Given the description of an element on the screen output the (x, y) to click on. 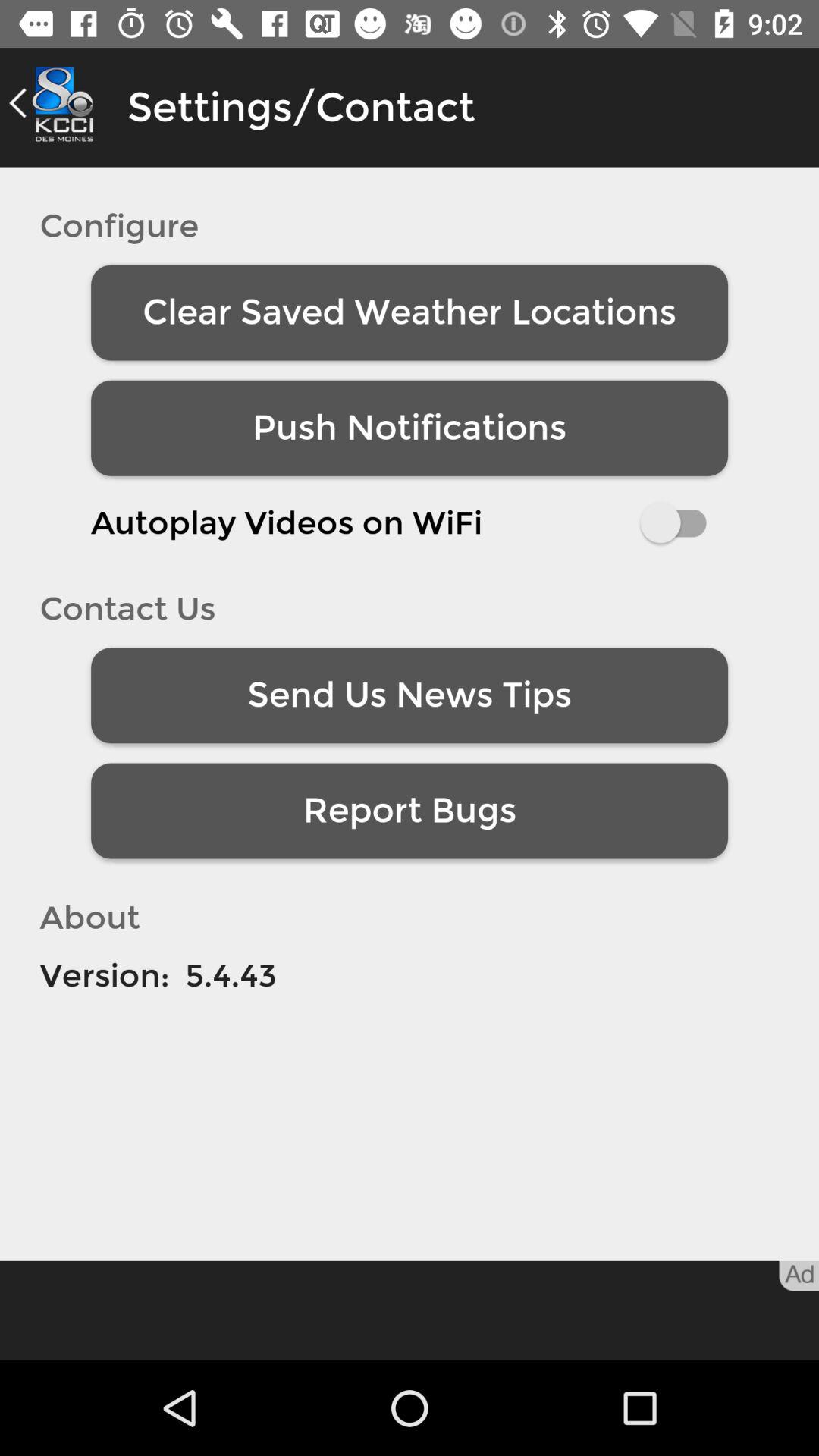
click the icon above configure item (55, 103)
